Given the description of an element on the screen output the (x, y) to click on. 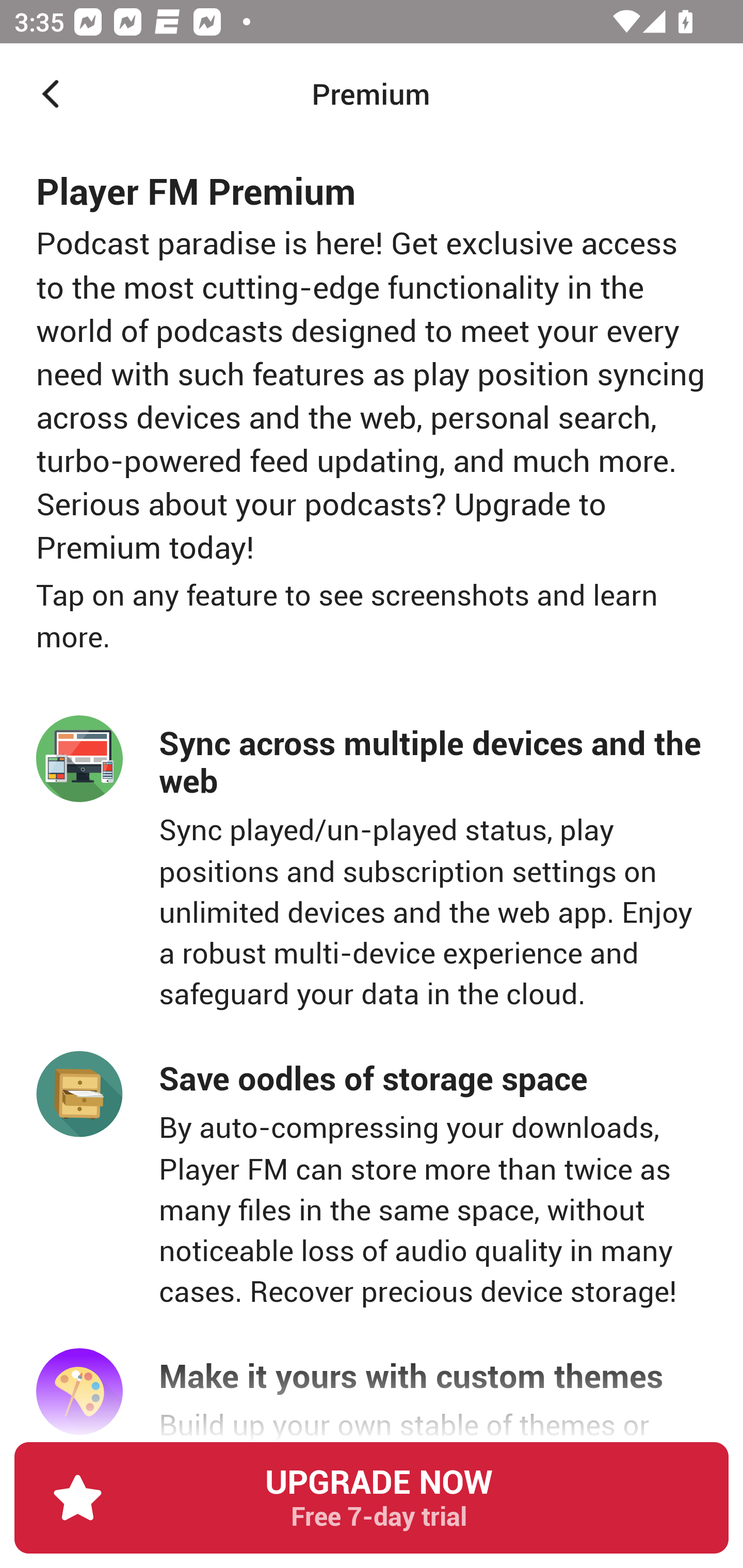
Navigate up (50, 93)
Upgrade Now UPGRADE NOW
Free 7-day trial (371, 1505)
